Given the description of an element on the screen output the (x, y) to click on. 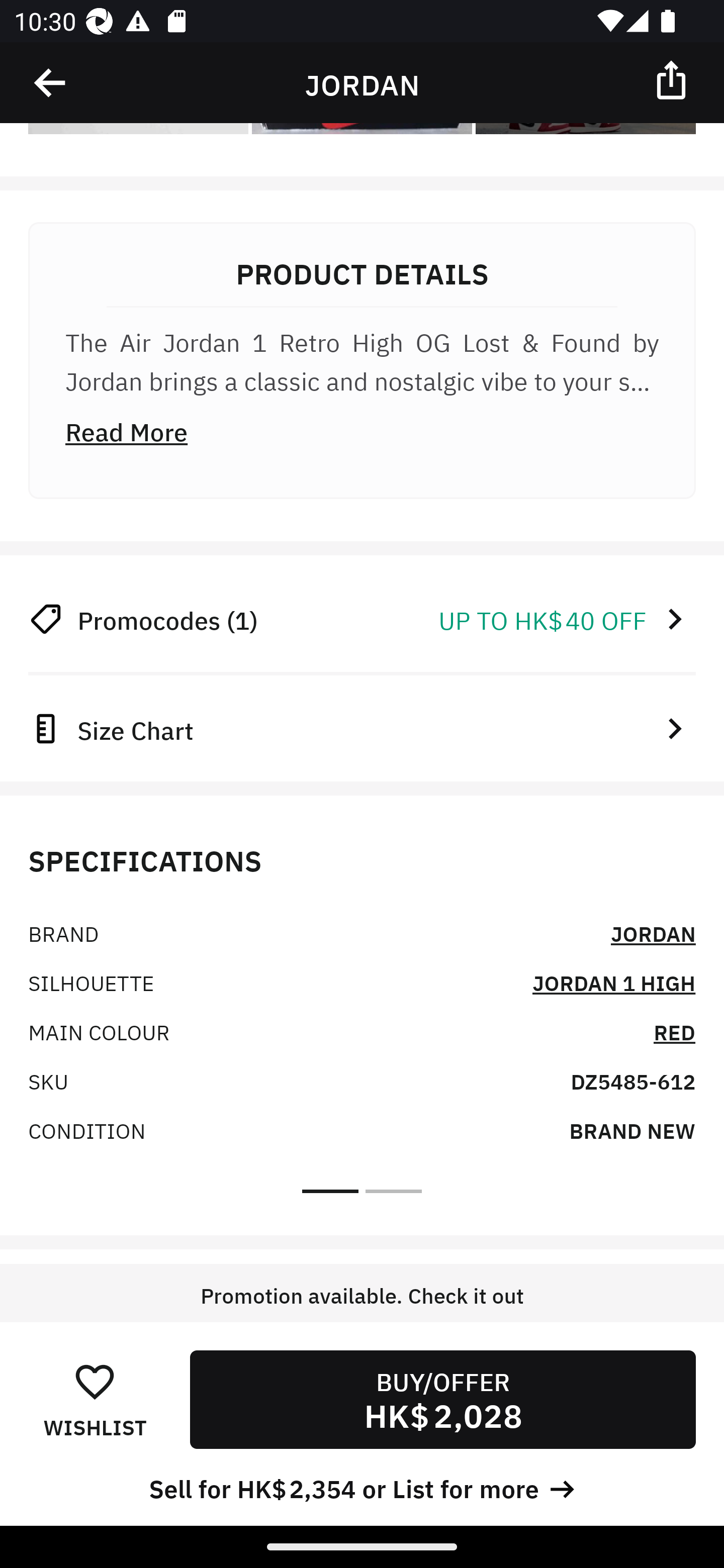
 (50, 83)
 (672, 79)
Promocodes (1) UP TO HK$ 40 OFF  (361, 618)
Size Chart  (361, 728)
JORDAN (653, 932)
JORDAN 1 HIGH (613, 982)
RED (674, 1030)
DZ5485-612 (632, 1080)
BRAND NEW (632, 1129)
BUY/OFFER HK$ 2,028 (442, 1399)
󰋕 (94, 1380)
Sell for HK$ 2,354 or List for more (361, 1486)
